Given the description of an element on the screen output the (x, y) to click on. 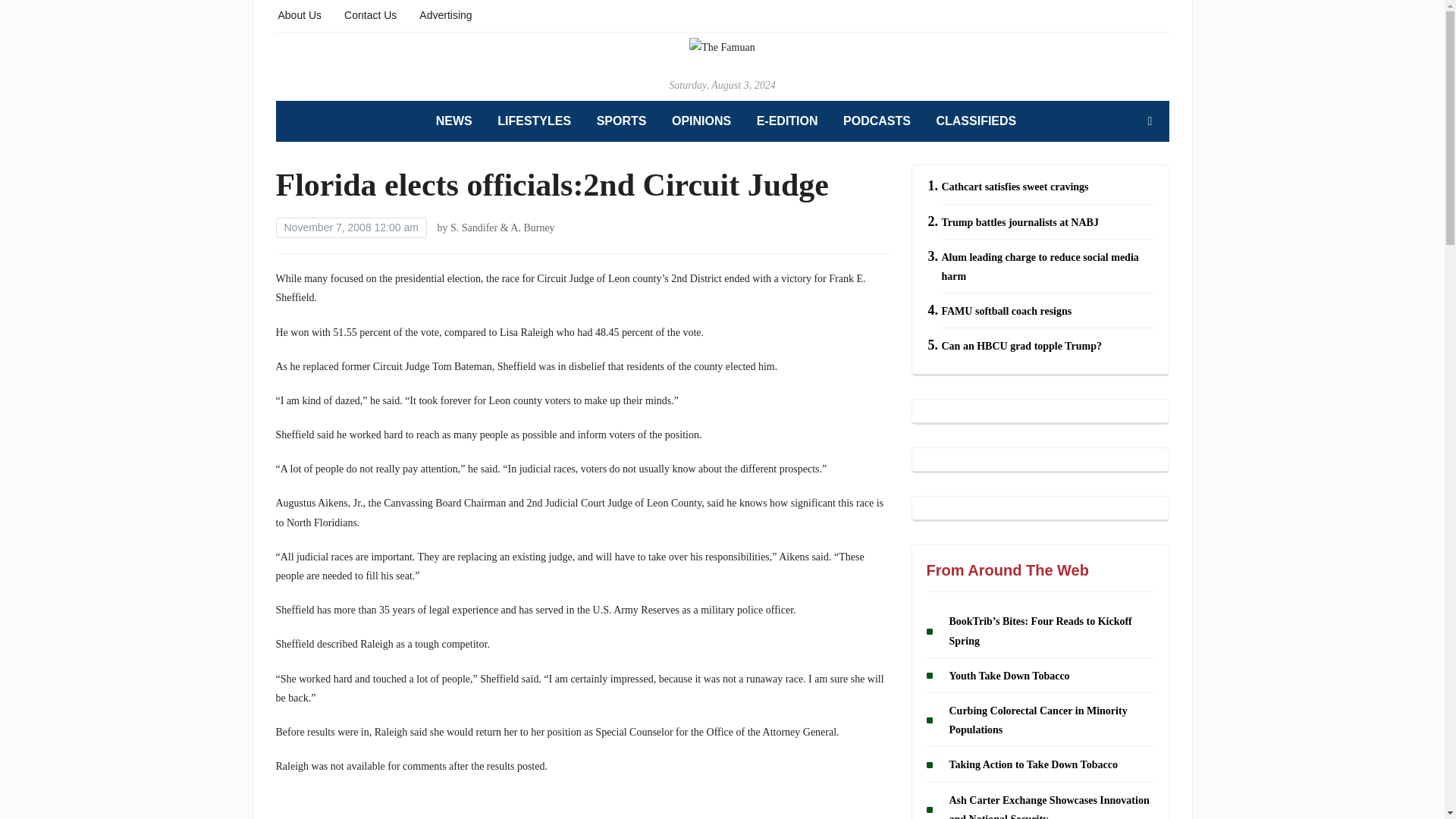
Permanent Link to FAMU softball coach resigns (1006, 310)
Taking Action to Take Down Tobacco (1033, 765)
Permanent Link to Can an HBCU grad topple Trump? (1022, 346)
Advertising (445, 14)
OPINIONS (700, 121)
Taking Action to Take Down Tobacco (1033, 765)
SPORTS (621, 121)
Youth Take Down Tobacco (1009, 675)
